Given the description of an element on the screen output the (x, y) to click on. 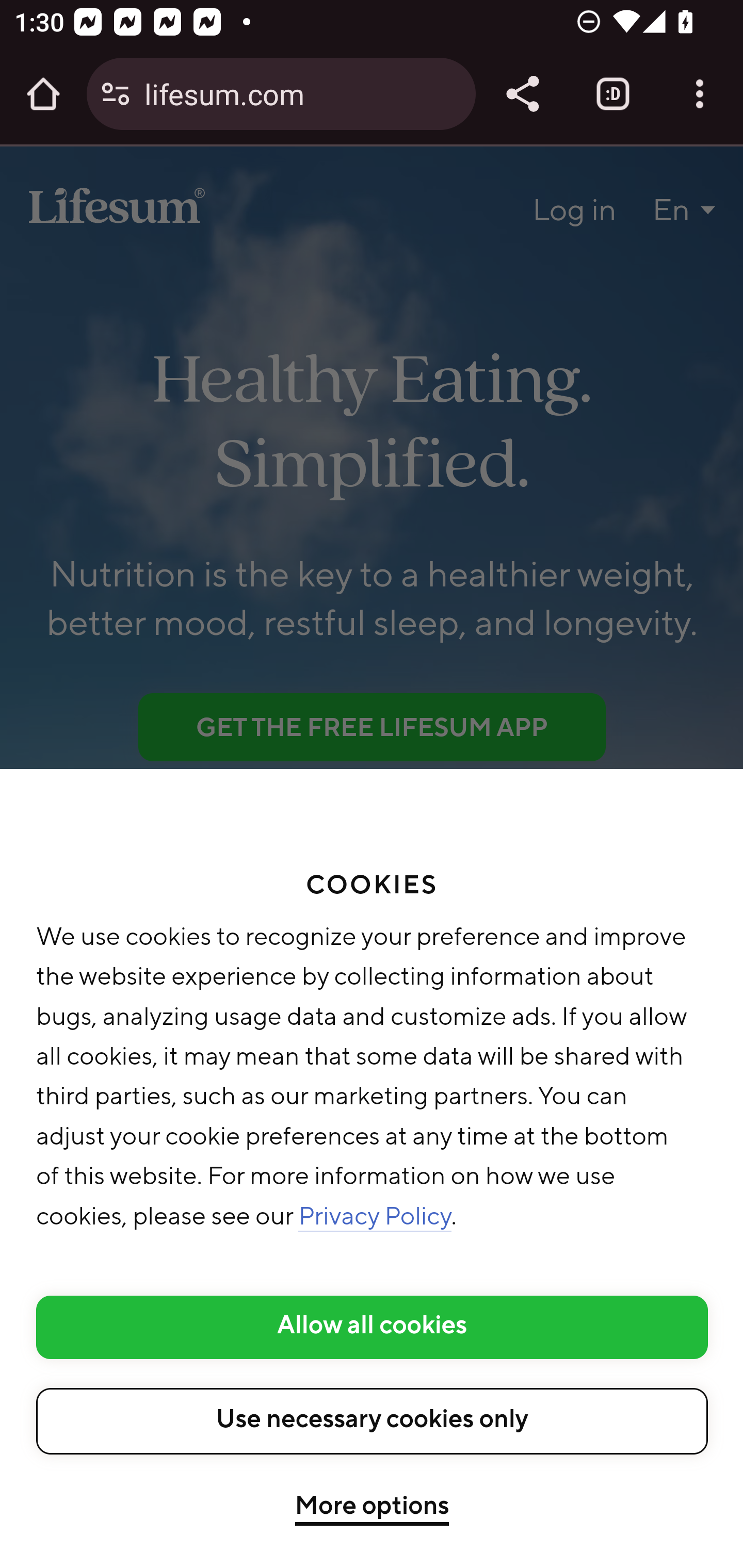
Open the home page (43, 93)
Connection is secure (115, 93)
Share (522, 93)
Switch or close tabs (612, 93)
Customize and control Google Chrome (699, 93)
lifesum.com (302, 92)
Privacy Policy (375, 1218)
Allow all cookies (372, 1326)
Use necessary cookies only (372, 1420)
More options (371, 1509)
